Given the description of an element on the screen output the (x, y) to click on. 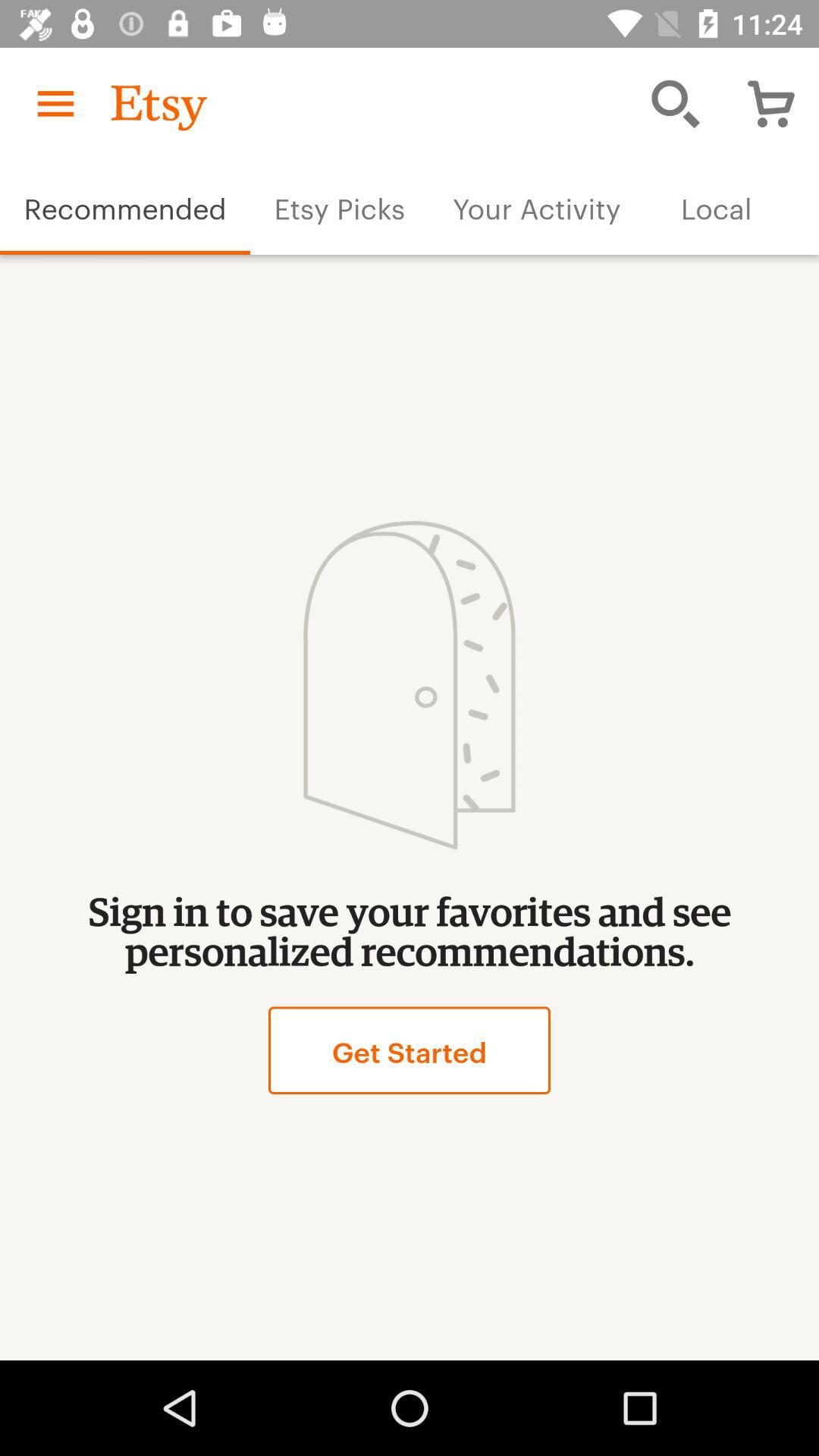
turn on the item above your activity icon (675, 103)
